Given the description of an element on the screen output the (x, y) to click on. 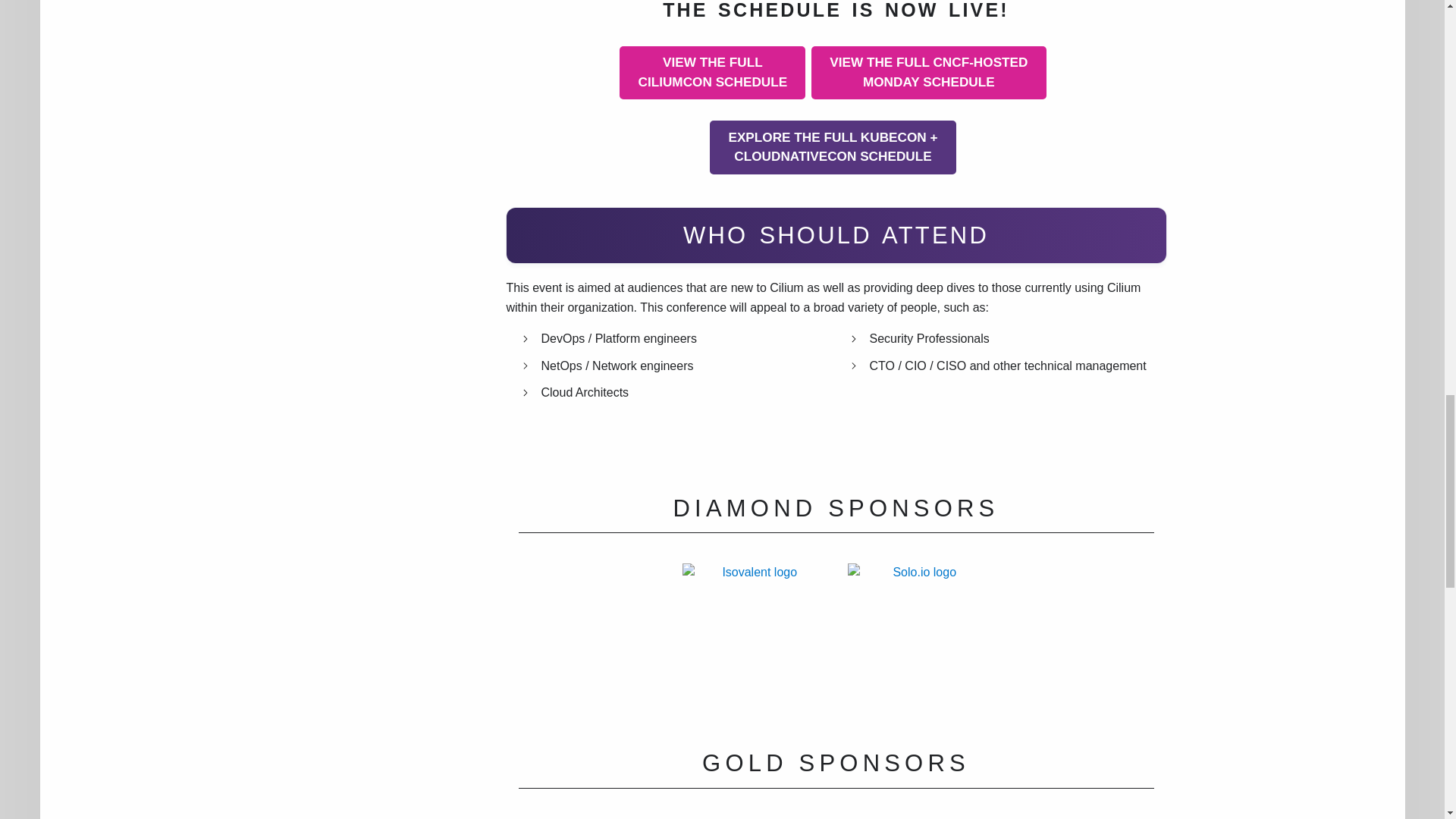
Go to Isovalent (753, 633)
Go to Solo.io (918, 633)
